Given the description of an element on the screen output the (x, y) to click on. 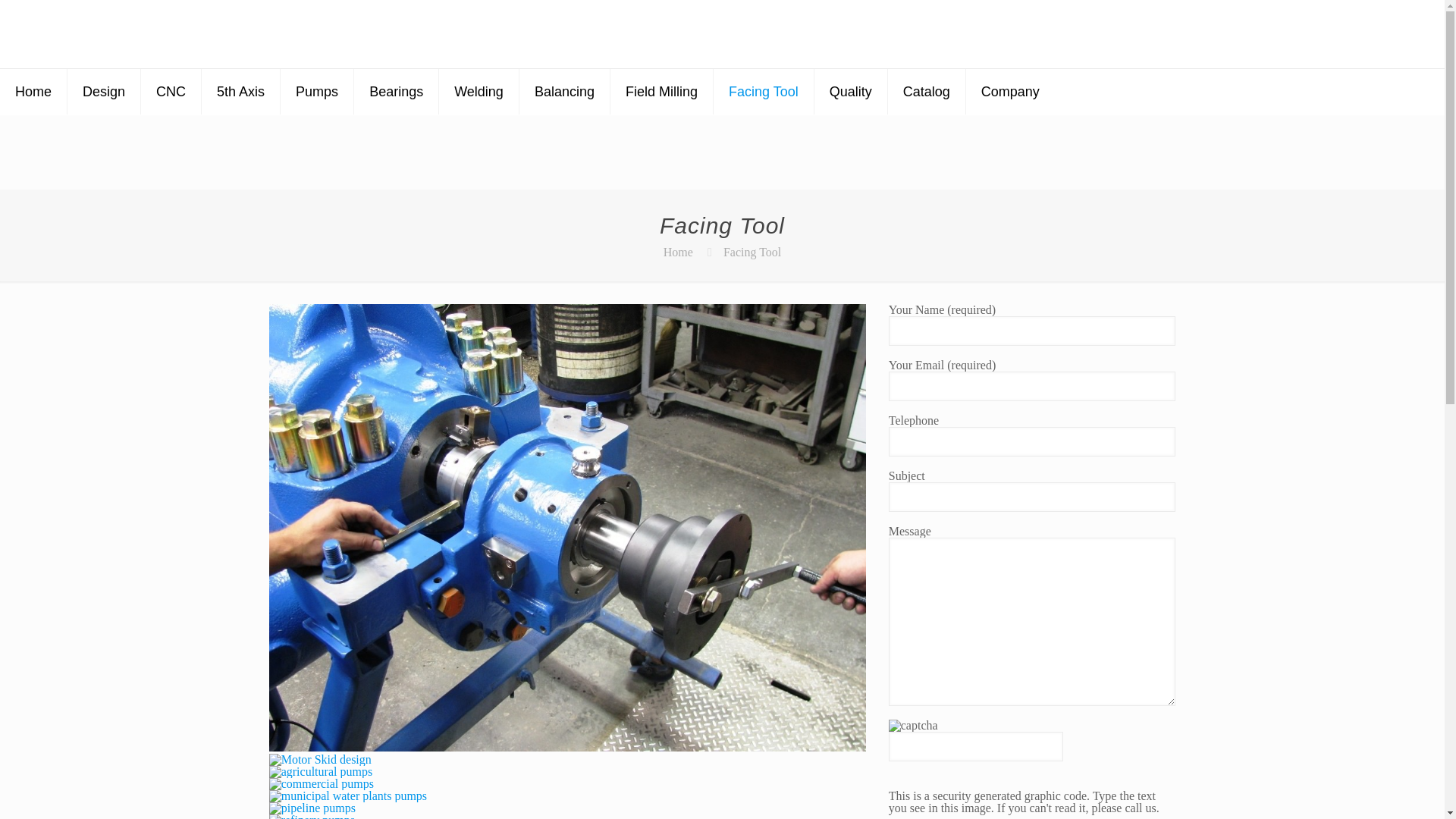
5th Axis (241, 91)
Facing Tool (763, 91)
Bearings (396, 91)
Catalog (927, 91)
Balancing (564, 91)
Pumps (317, 91)
Home (678, 251)
Facing Tool (751, 251)
CNC (171, 91)
Home (33, 91)
